Given the description of an element on the screen output the (x, y) to click on. 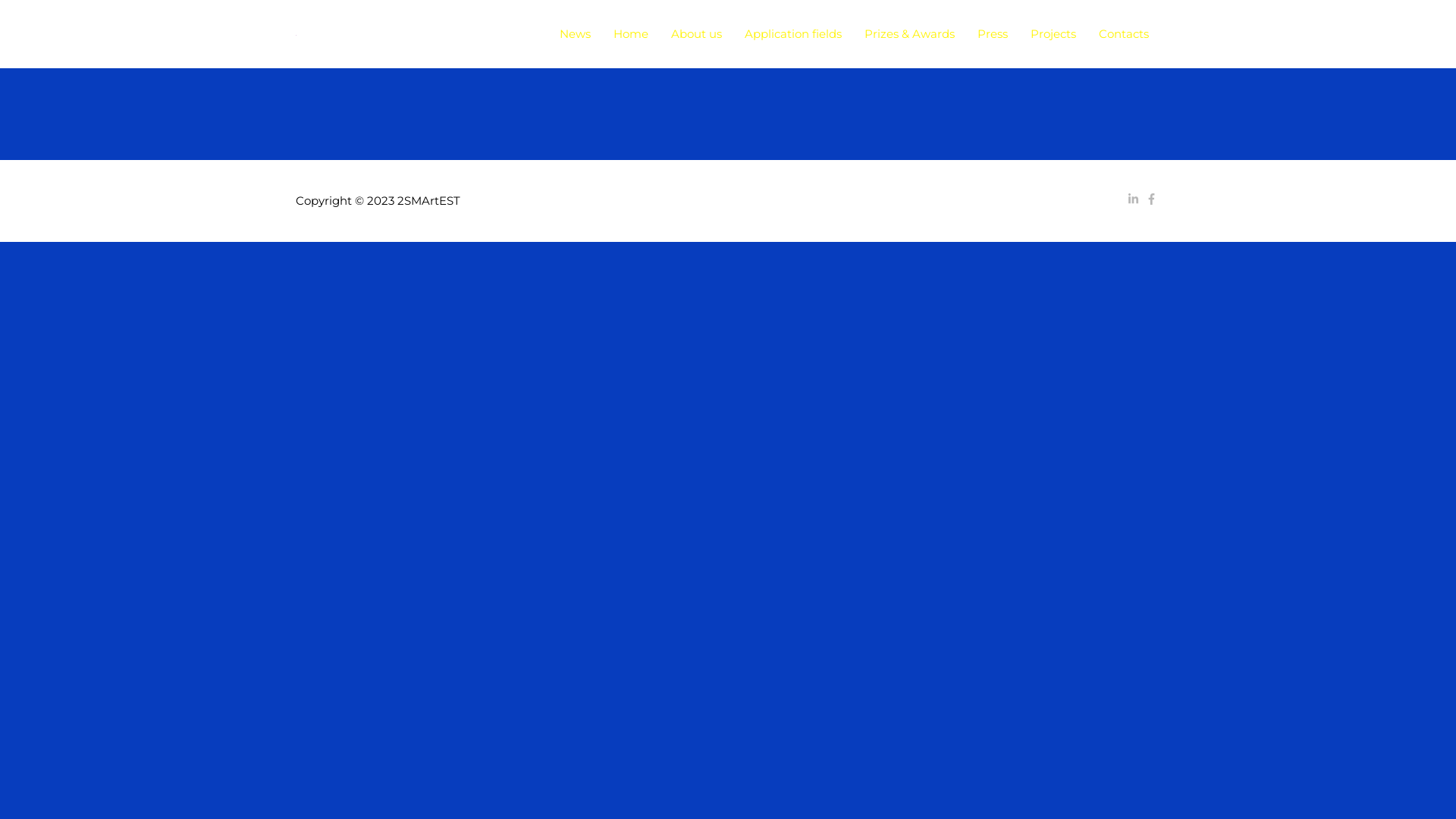
Application fields Element type: text (793, 33)
Press Element type: text (992, 33)
Contacts Element type: text (1123, 33)
About us Element type: text (696, 33)
Projects Element type: text (1053, 33)
Home Element type: text (630, 33)
Prizes & Awards Element type: text (909, 33)
News Element type: text (575, 33)
